Given the description of an element on the screen output the (x, y) to click on. 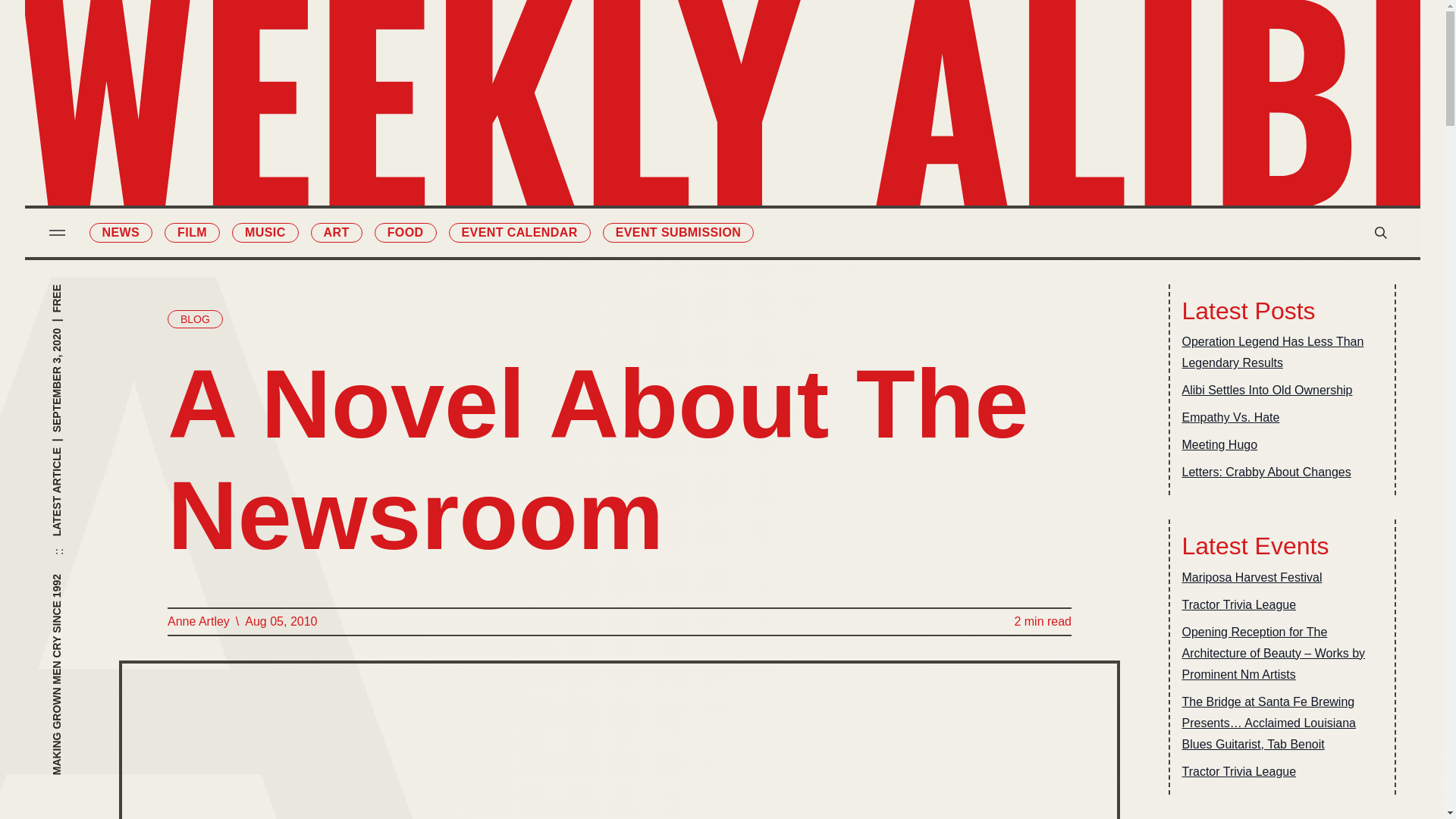
ART (336, 232)
Anne Artley (197, 621)
FOOD (405, 232)
MUSIC (264, 232)
NEWS (120, 232)
FILM (191, 232)
EVENT CALENDAR (519, 232)
EVENT SUBMISSION (678, 232)
BLOG (194, 319)
